Given the description of an element on the screen output the (x, y) to click on. 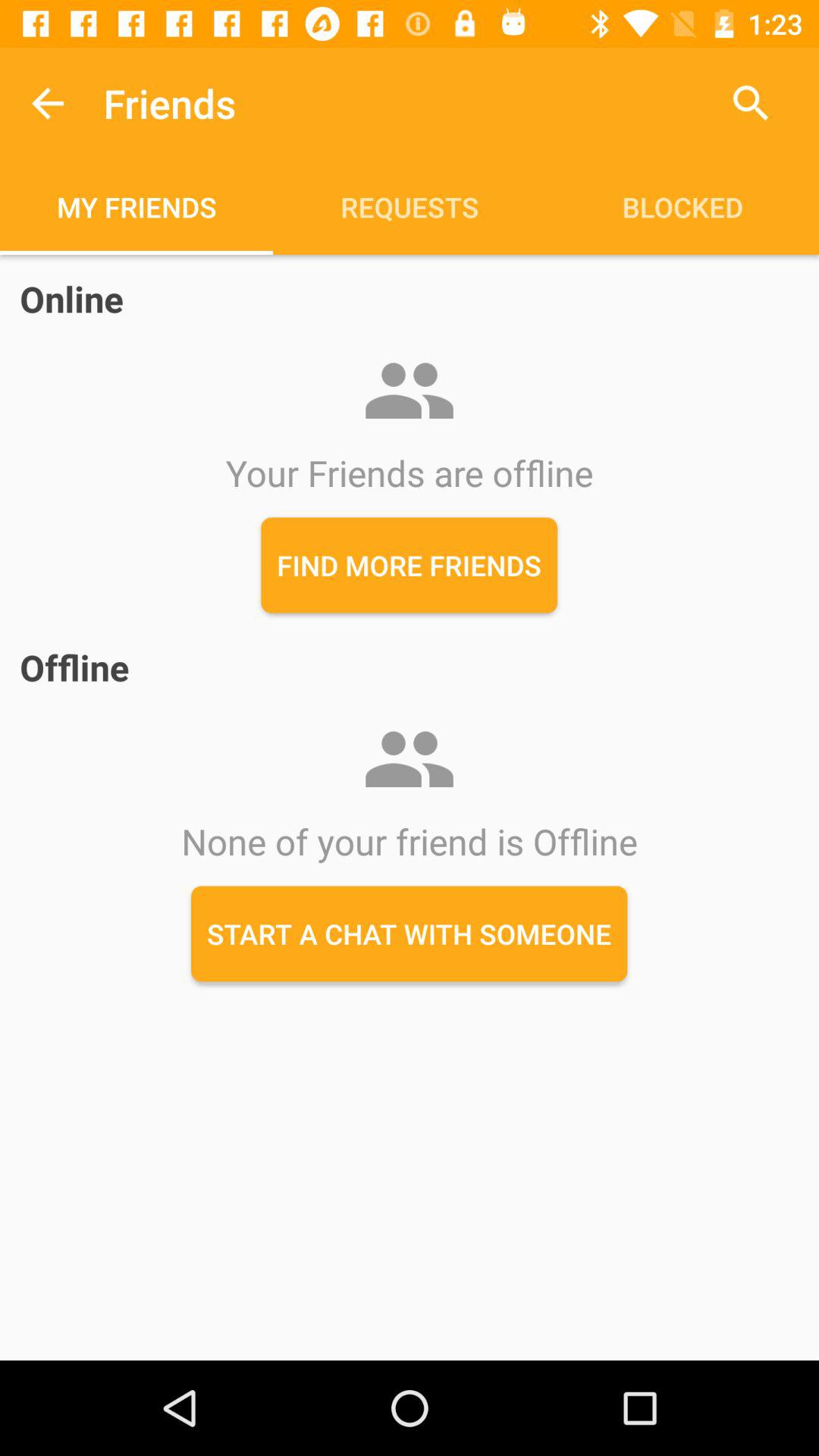
turn on icon next to the friends icon (47, 103)
